Given the description of an element on the screen output the (x, y) to click on. 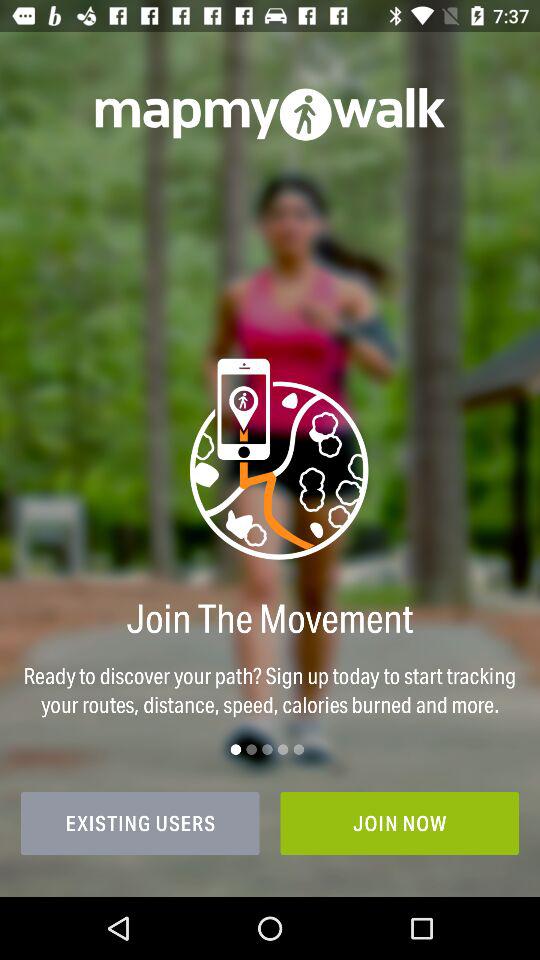
choose the icon next to existing users icon (399, 823)
